Given the description of an element on the screen output the (x, y) to click on. 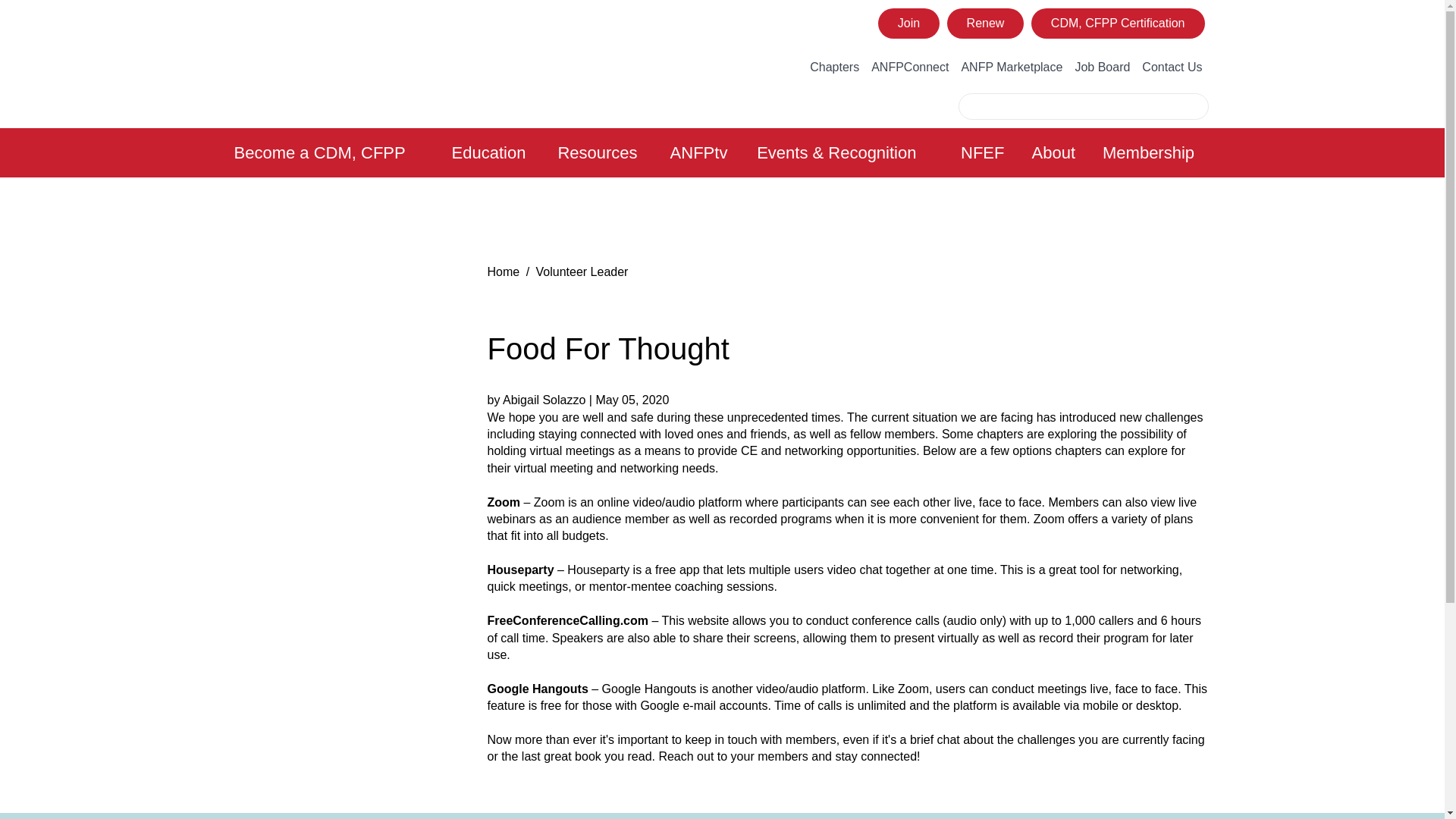
Contact Us (1171, 66)
Renew (986, 23)
Search (1195, 106)
Become a CDM, CFPP (333, 152)
Search (1195, 106)
ANFP Marketplace (1011, 66)
ANFPConnect (909, 66)
Search input (1070, 106)
Search (1195, 106)
Chapters (833, 66)
